Given the description of an element on the screen output the (x, y) to click on. 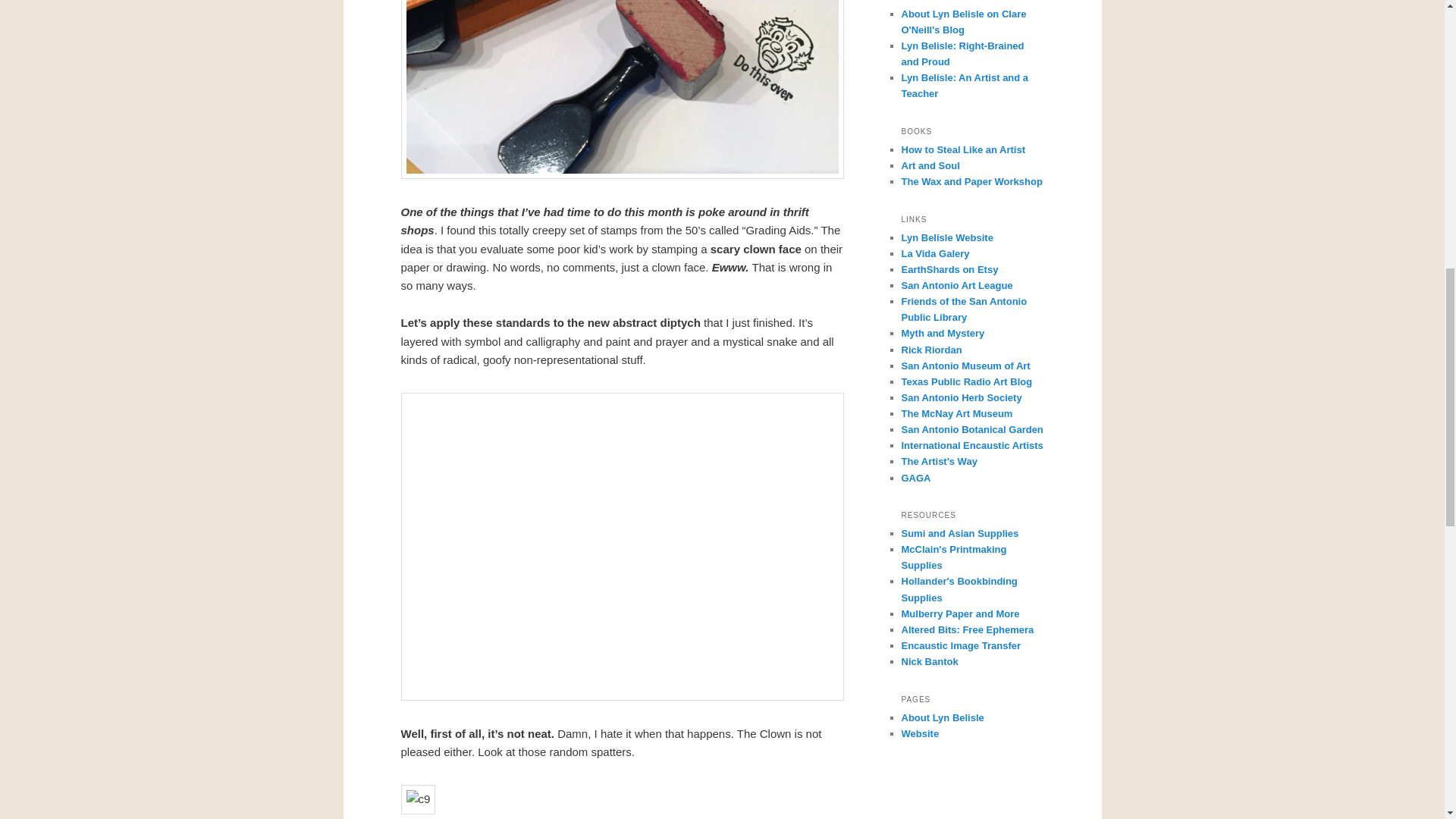
The Wax and Paper Workshop (971, 181)
Lessons on life and art (963, 149)
About Lyn Belisle on Clare O'Neill's Blog (963, 22)
Art and archetypes (930, 165)
Right-brained artists andtheir characteristics (962, 53)
Lyn Belisle: An Artist and a Teacher (964, 85)
How to Steal Like an Artist (963, 149)
Lyn Belisle: Right-Brained and Proud (962, 53)
Art and Soul (930, 165)
